Given the description of an element on the screen output the (x, y) to click on. 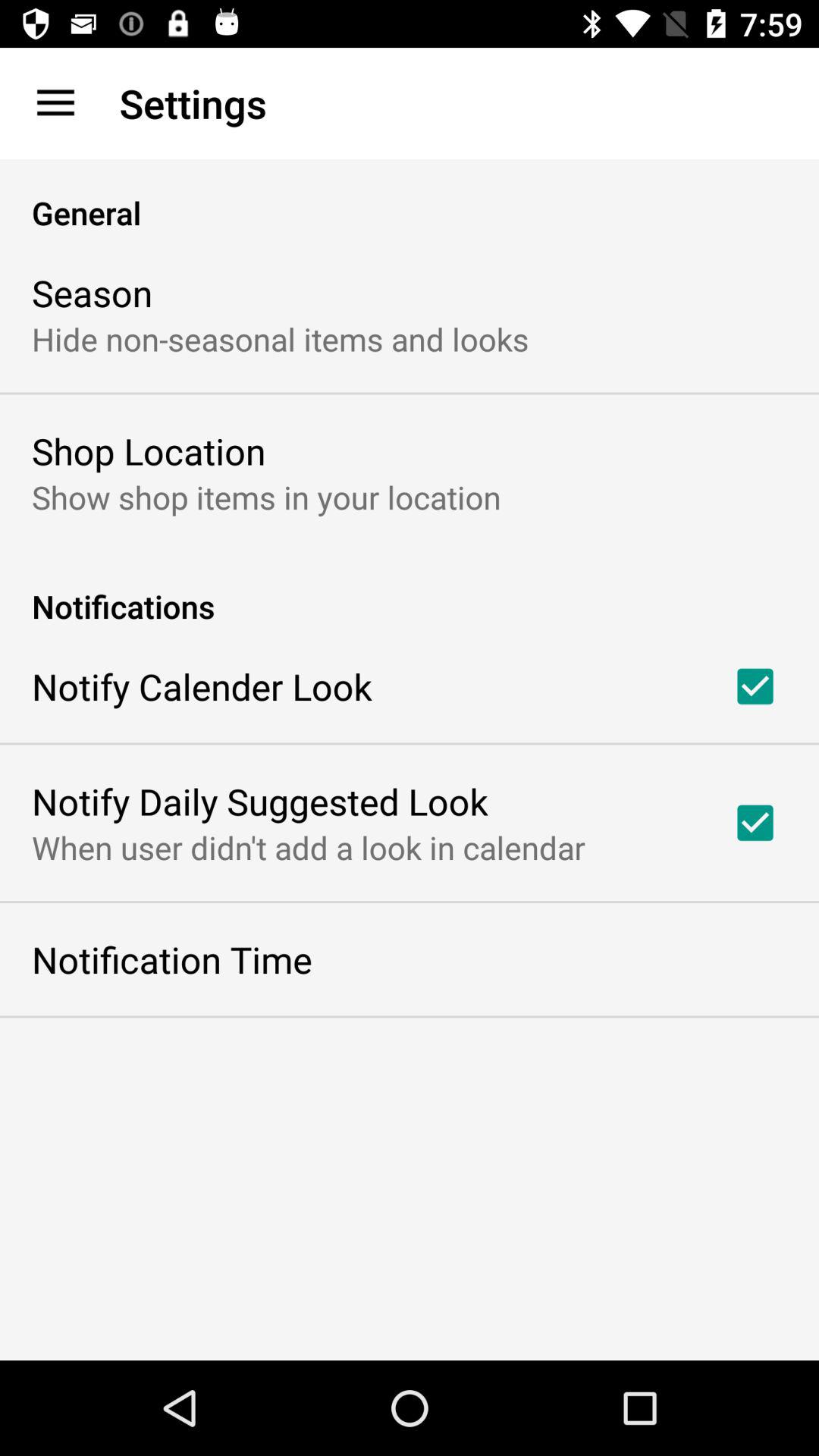
launch item below shop location (266, 496)
